Given the description of an element on the screen output the (x, y) to click on. 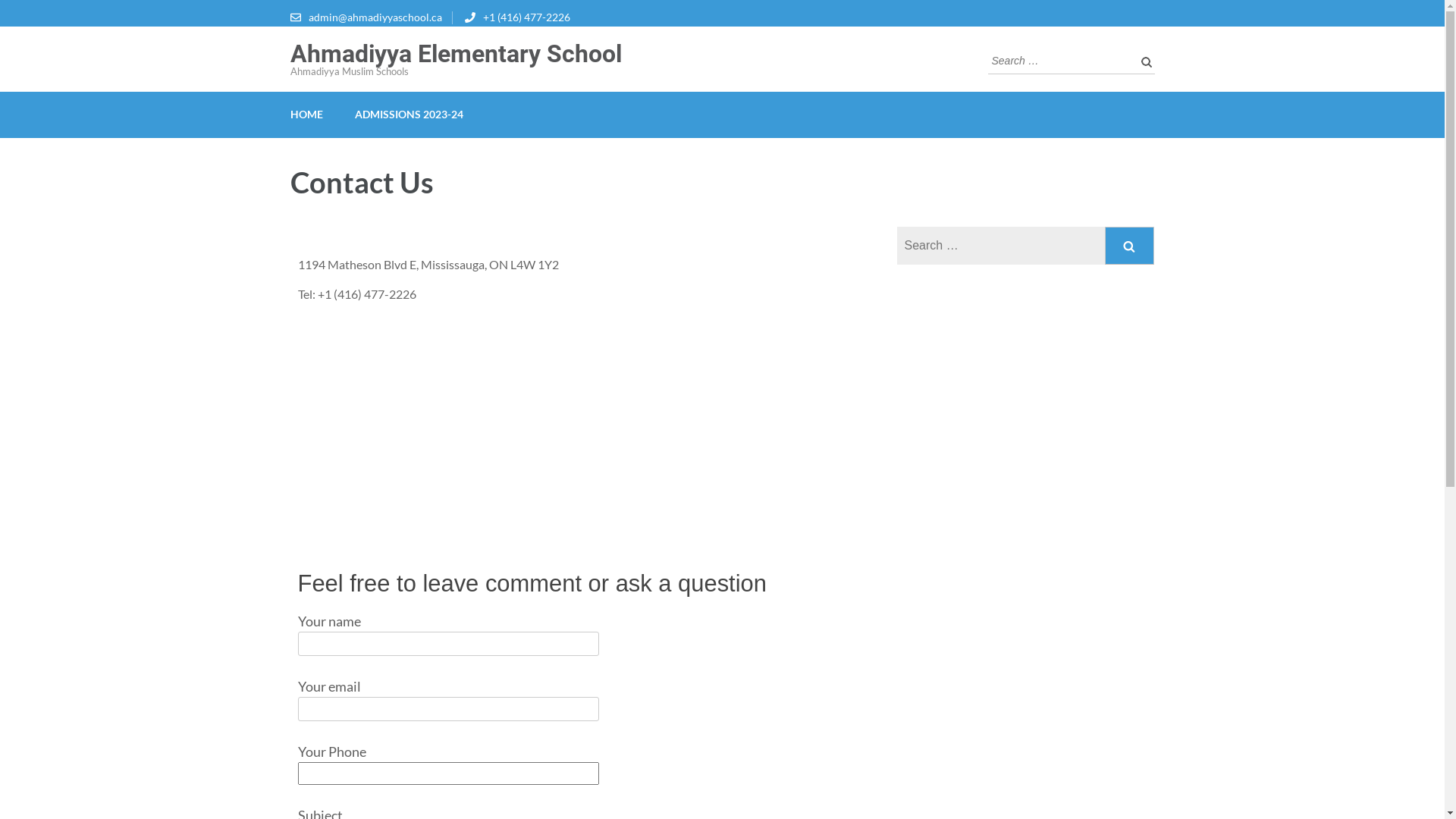
Search Element type: text (1142, 60)
Search Element type: text (1129, 245)
Ahmadiyya Elementary School Element type: text (455, 53)
HOME Element type: text (305, 114)
ADMISSIONS 2023-24 Element type: text (408, 114)
+1 (416) 477-2226 Element type: text (525, 16)
admin@ahmadiyyaschool.ca Element type: text (374, 16)
